Given the description of an element on the screen output the (x, y) to click on. 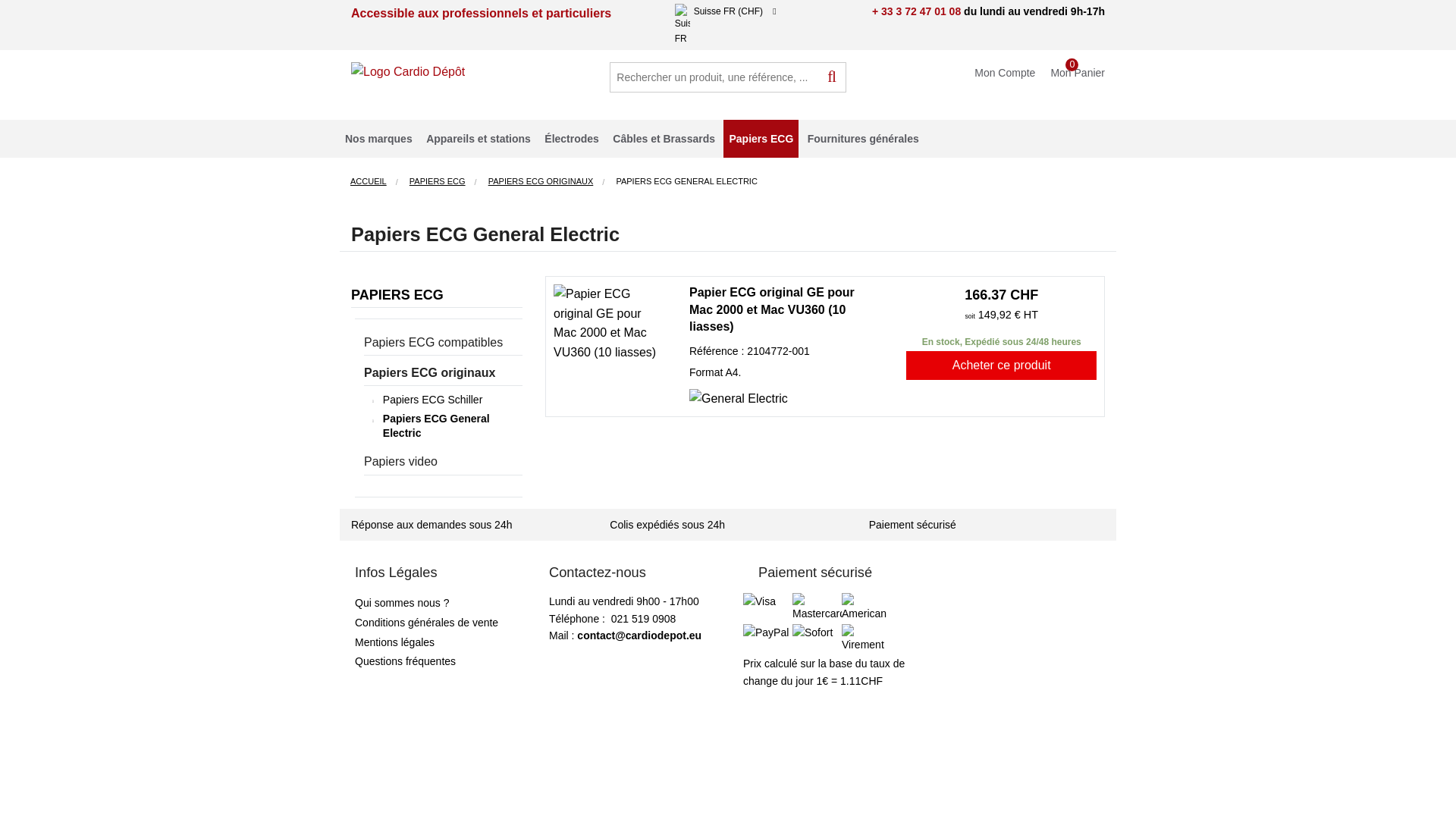
+ 33 3 72 47 01 08 Element type: text (916, 11)
Appareils et stations Element type: text (478, 138)
PAPIERS ECG Element type: text (437, 180)
0
Mon Panier Element type: text (1081, 69)
PAPIERS ECG Element type: text (397, 294)
Papiers ECG General Electric Element type: text (449, 425)
Nos marques Element type: text (378, 138)
Papiers ECG Element type: text (760, 138)
PAPIERS ECG ORIGINAUX Element type: text (540, 180)
Suisse FR (CHF) Element type: text (760, 10)
Qui sommes nous ? Element type: text (401, 602)
General Electric Element type: hover (738, 398)
Mon Compte Element type: text (1008, 69)
Papiers ECG Schiller Element type: text (432, 399)
ACCUEIL Element type: text (368, 180)
